Given the description of an element on the screen output the (x, y) to click on. 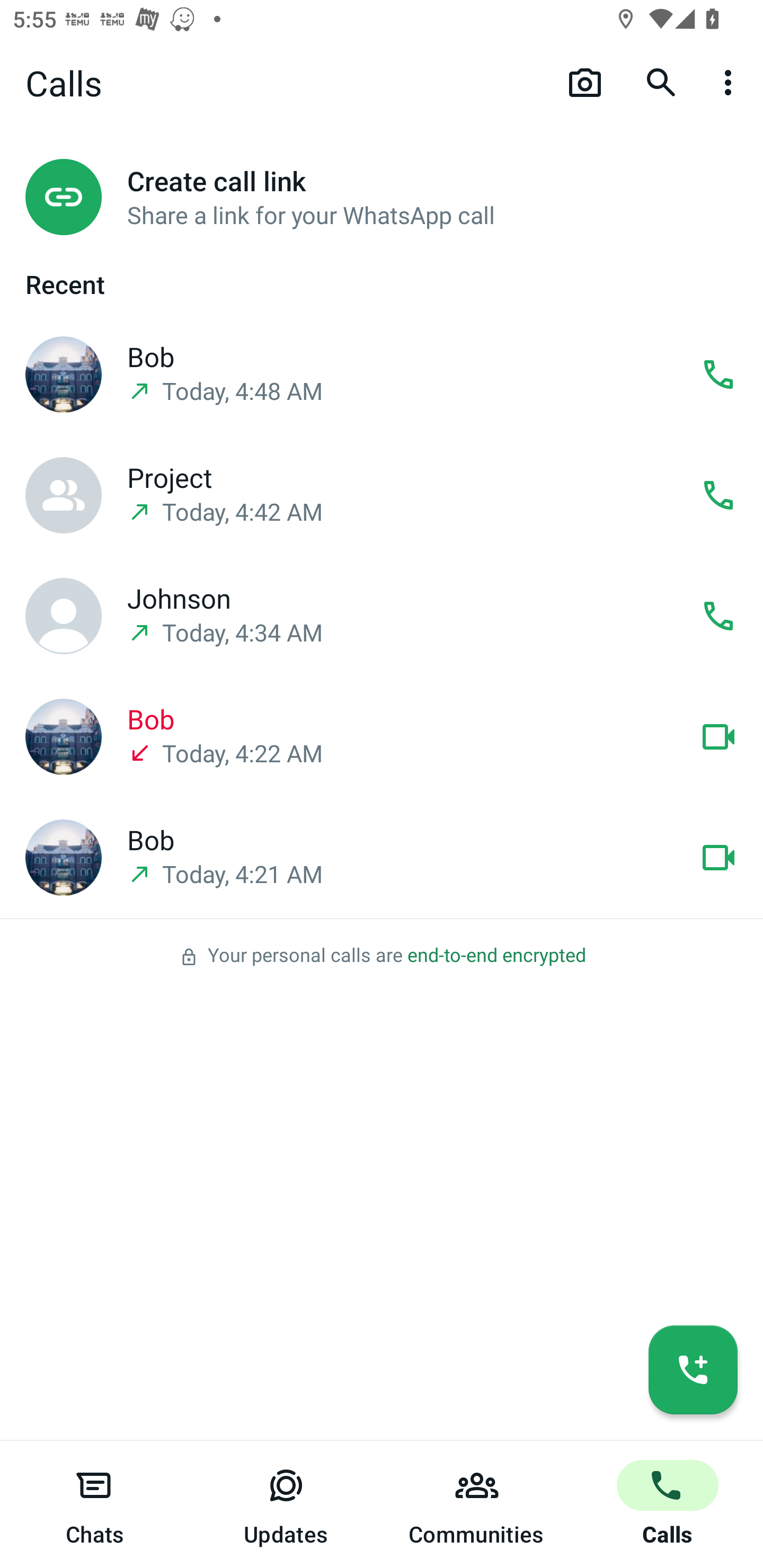
Camera (585, 81)
Search (661, 81)
More options (731, 81)
Voice call (718, 373)
Bob (63, 374)
Voice call (718, 494)
Project (63, 495)
Voice call (718, 615)
Johnson (63, 615)
Video call (718, 735)
Bob (63, 736)
Video call (718, 856)
Bob (63, 857)
New call (692, 1369)
Chats (95, 1504)
Updates (285, 1504)
Communities (476, 1504)
